Given the description of an element on the screen output the (x, y) to click on. 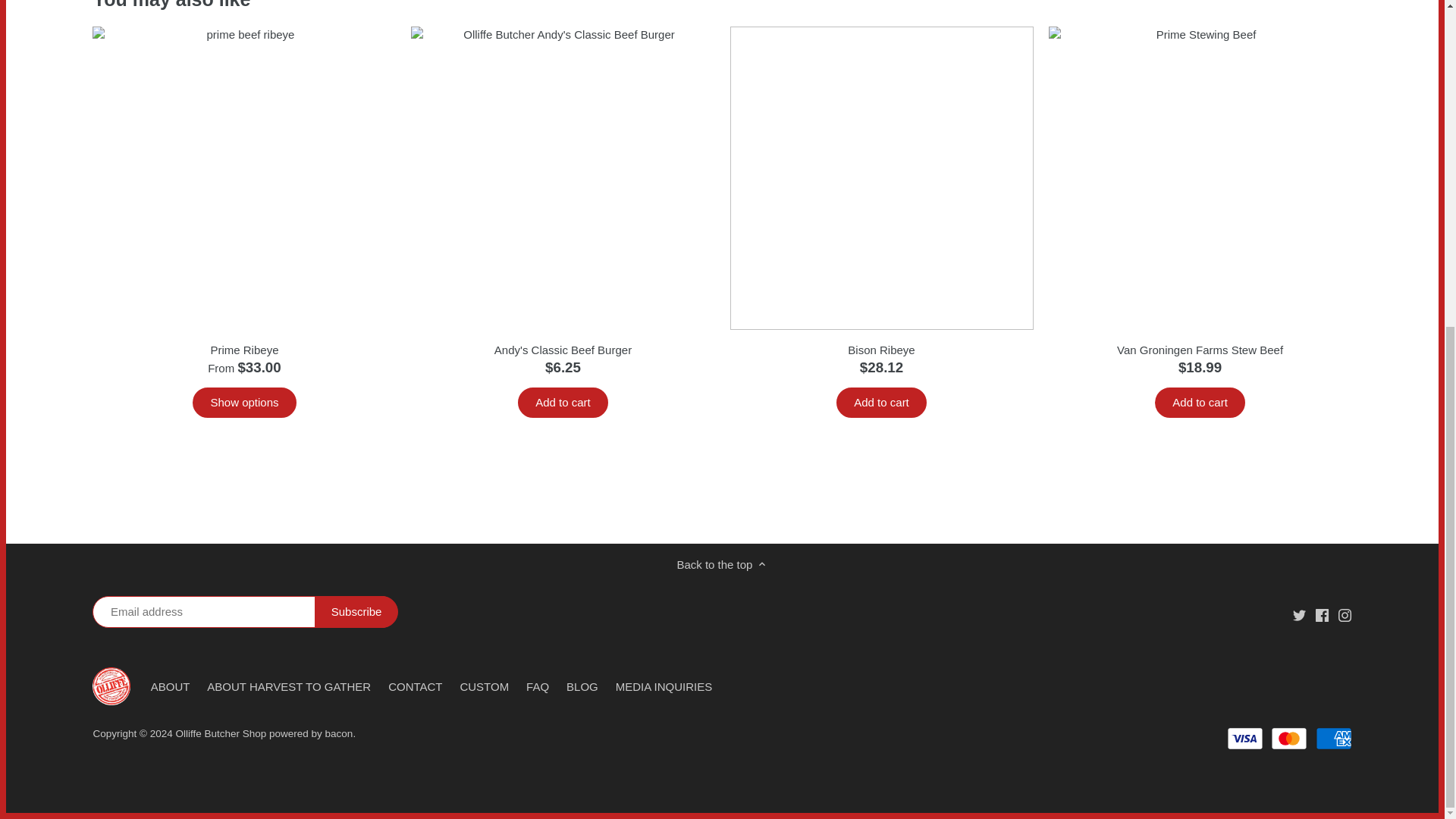
Twitter (1299, 615)
Subscribe (356, 612)
Facebook (1322, 615)
